Given the description of an element on the screen output the (x, y) to click on. 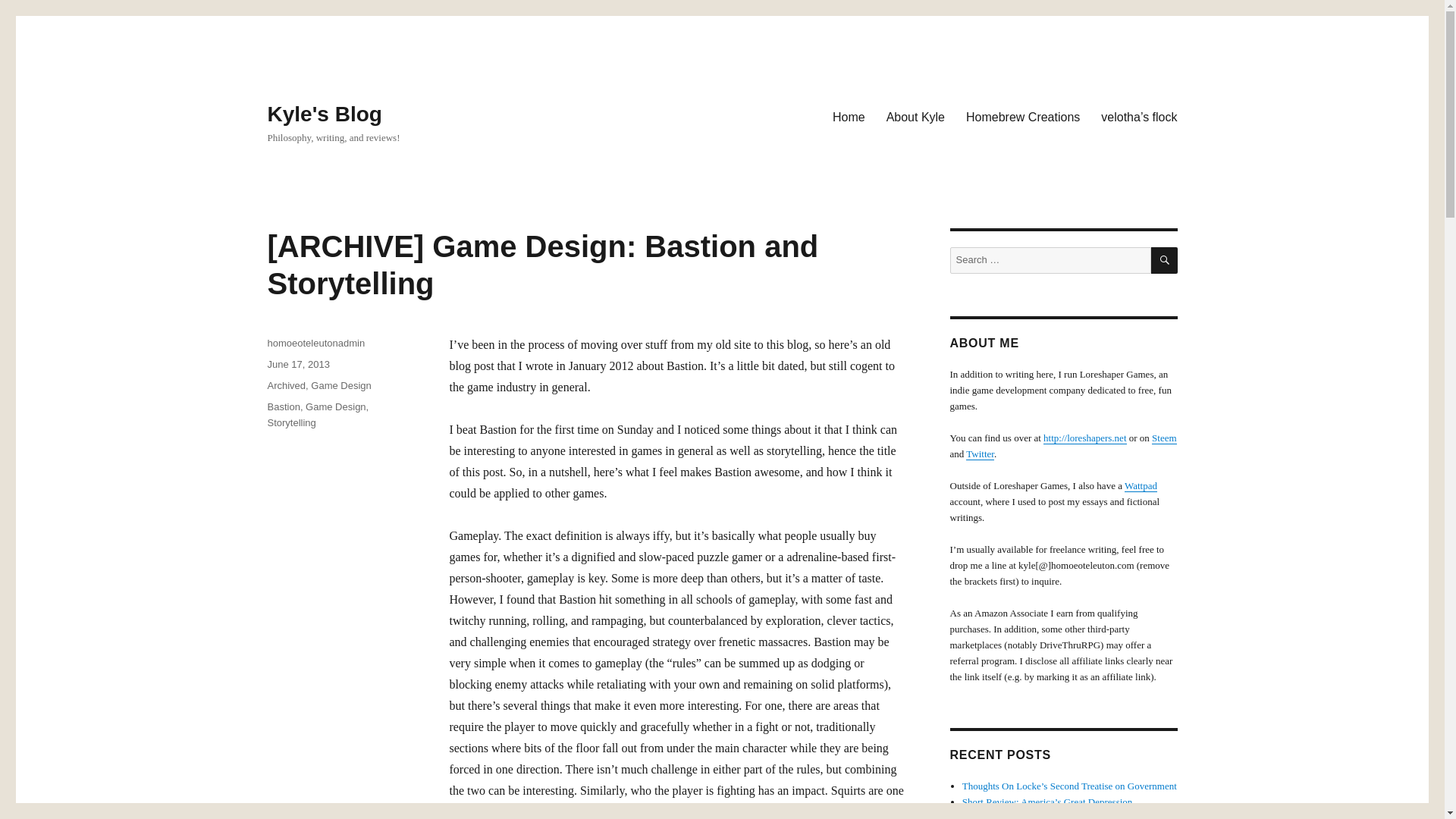
homoeoteleutonadmin (315, 342)
Homebrew Creations (1022, 116)
June 17, 2013 (297, 364)
Archived (285, 385)
Kyle's Blog (323, 114)
Storytelling (290, 422)
Bastion (282, 406)
Game Design (341, 385)
Game Design (335, 406)
Home (849, 116)
